Given the description of an element on the screen output the (x, y) to click on. 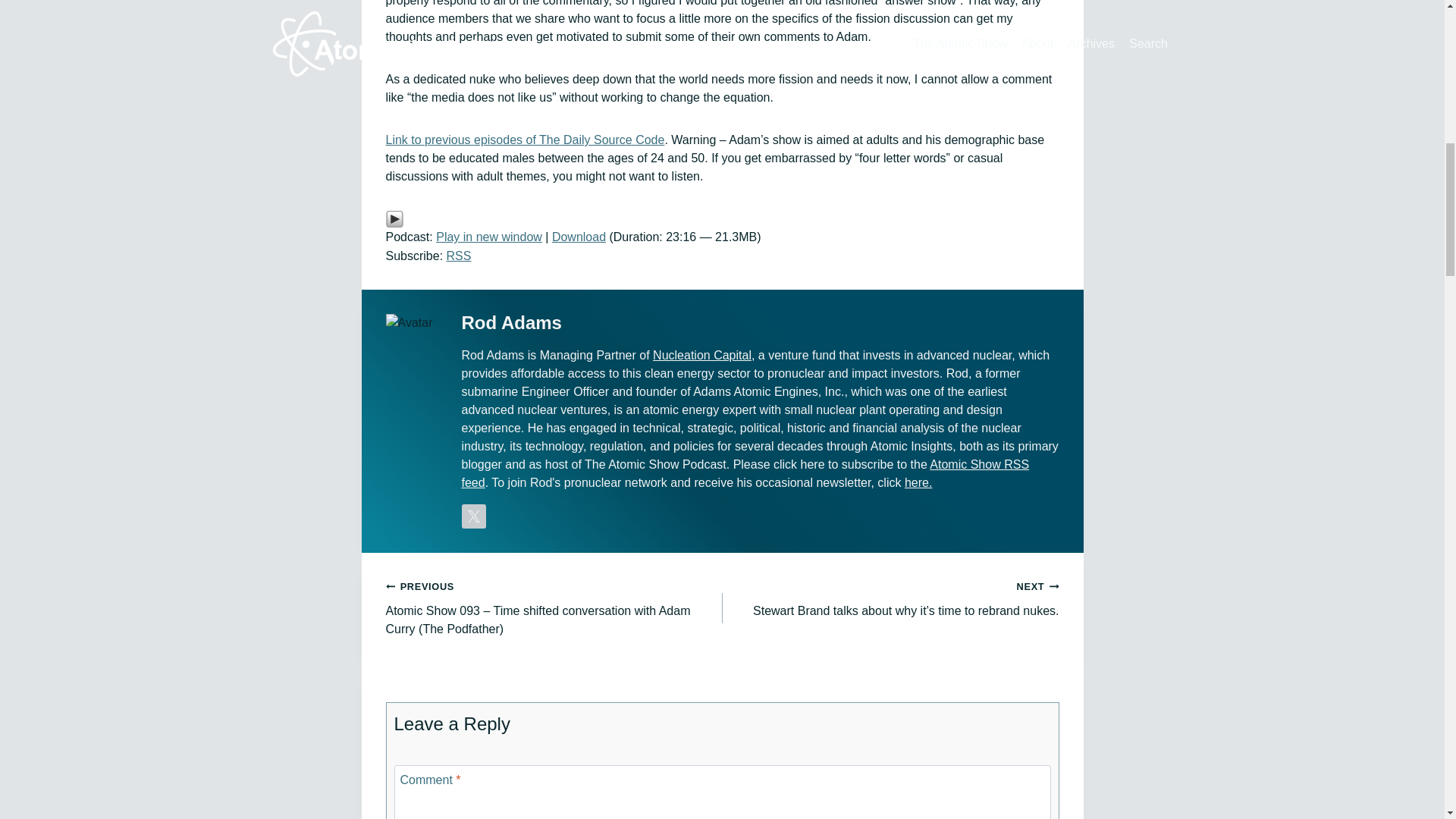
Subscribe via RSS (458, 255)
Download (578, 236)
Play in new window (488, 236)
here. (917, 481)
Play (721, 218)
Play in new window (488, 236)
Follow Rod Adams on X formerly Twitter (472, 516)
Play (394, 218)
RSS (458, 255)
Download (578, 236)
Link to previous episodes of The Daily Source Code (524, 139)
Nucleation Capital (701, 354)
Atomic Show RSS feed (745, 472)
